Given the description of an element on the screen output the (x, y) to click on. 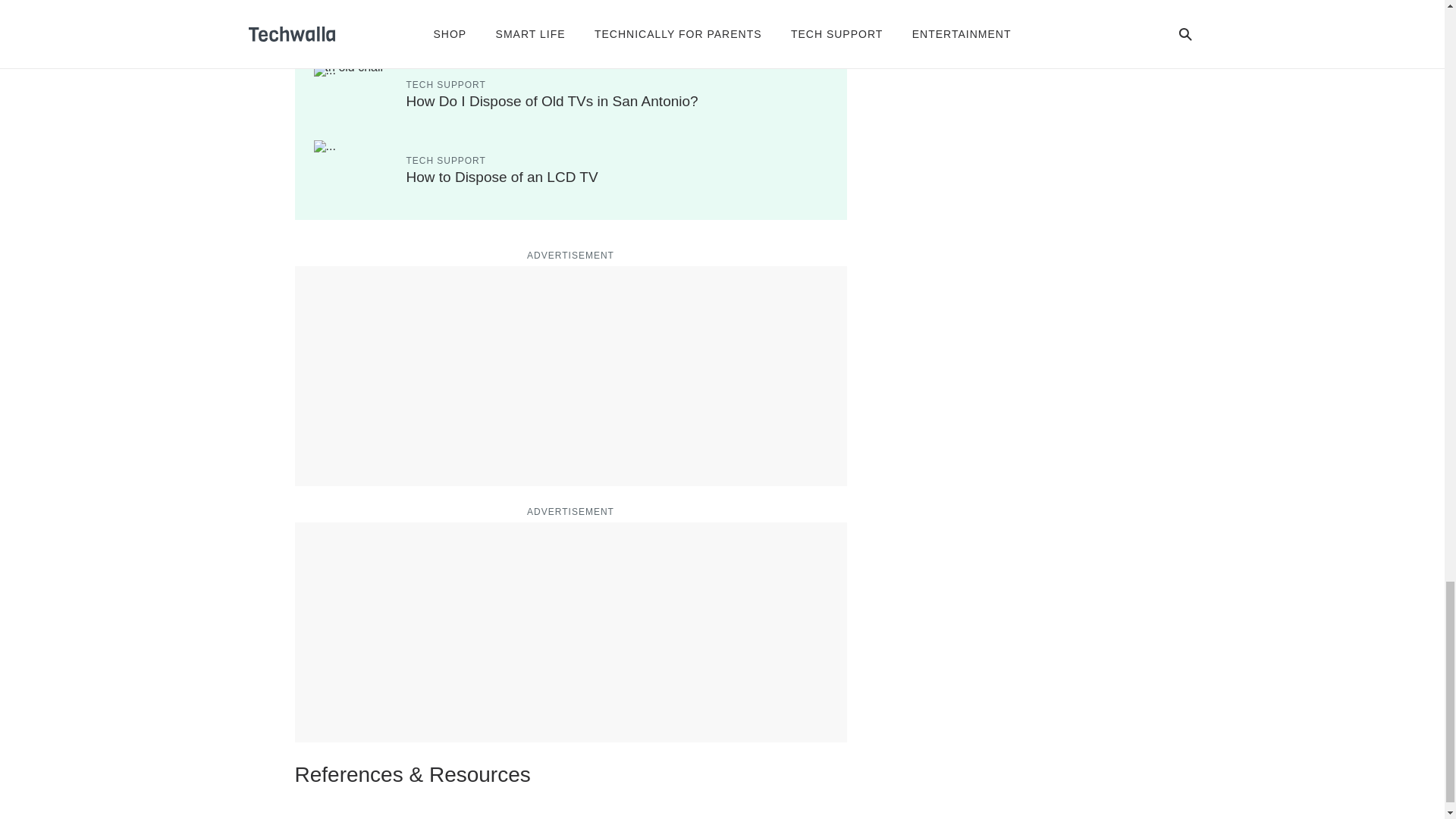
How to Donate a Tube TV (489, 25)
How Do I Dispose of Old TVs in San Antonio? (552, 100)
How to Dispose of an LCD TV (502, 176)
